Given the description of an element on the screen output the (x, y) to click on. 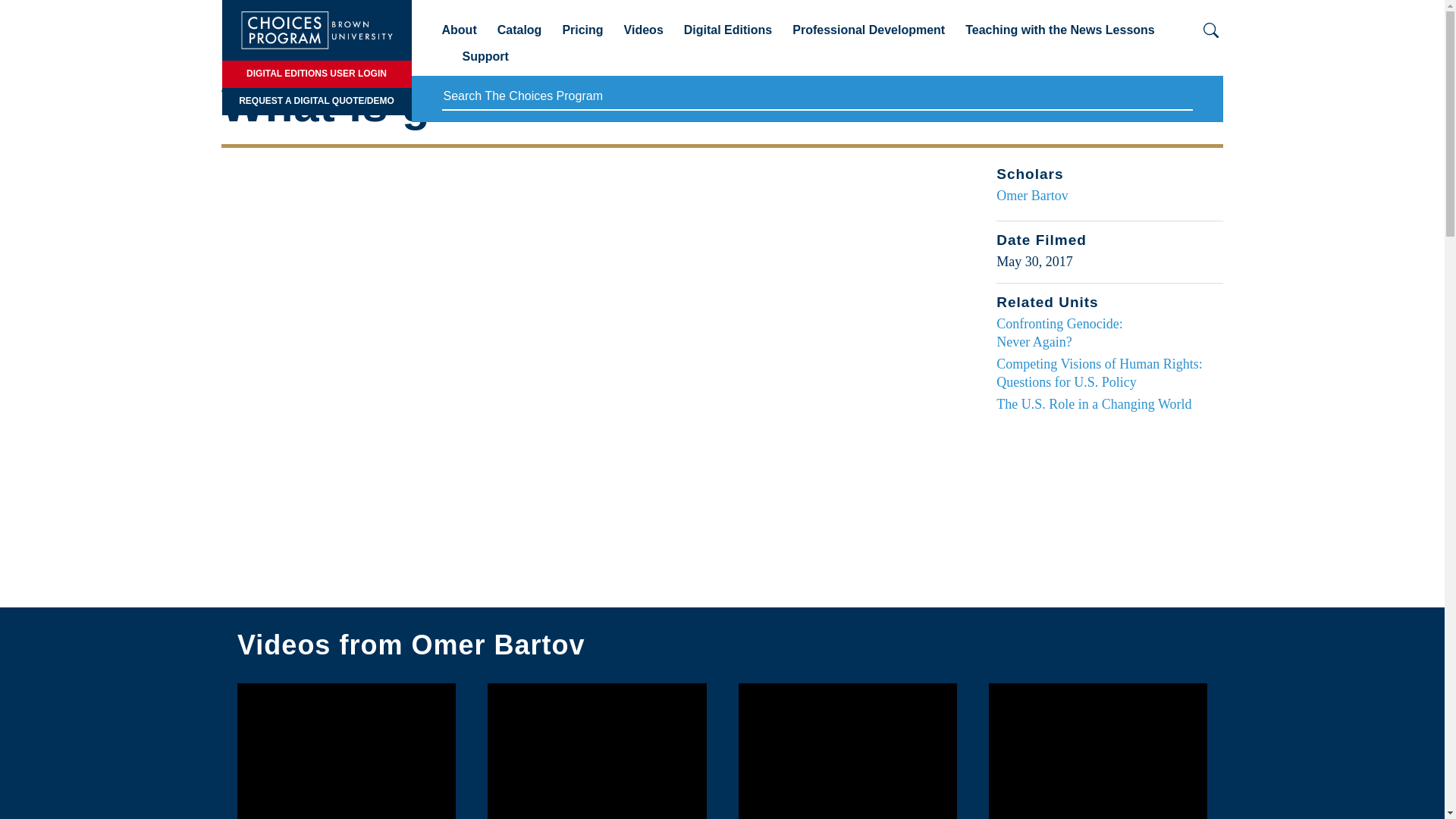
DIGITAL EDITIONS USER LOGIN (315, 73)
search here (816, 96)
Digital Editions (727, 35)
Pricing (582, 35)
About (458, 35)
Videos (643, 35)
Catalog (519, 35)
